Given the description of an element on the screen output the (x, y) to click on. 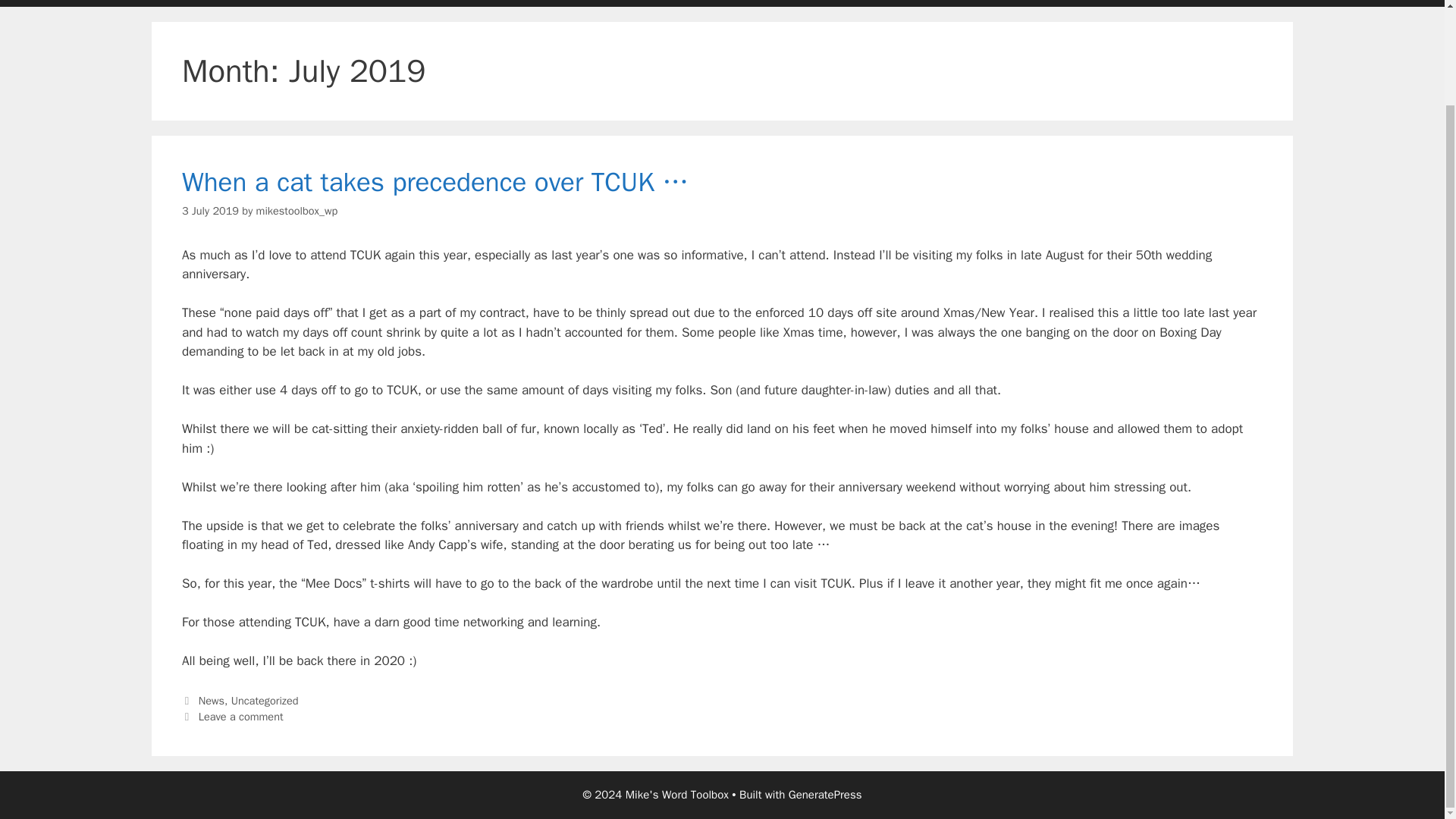
News (211, 700)
Mee Docs Ltd (692, 2)
Blog (617, 2)
Uncategorized (264, 700)
Leave a comment (240, 716)
Downloads (352, 2)
GeneratePress (825, 794)
Overview (256, 2)
Home (181, 2)
Helpdesk (449, 2)
